Given the description of an element on the screen output the (x, y) to click on. 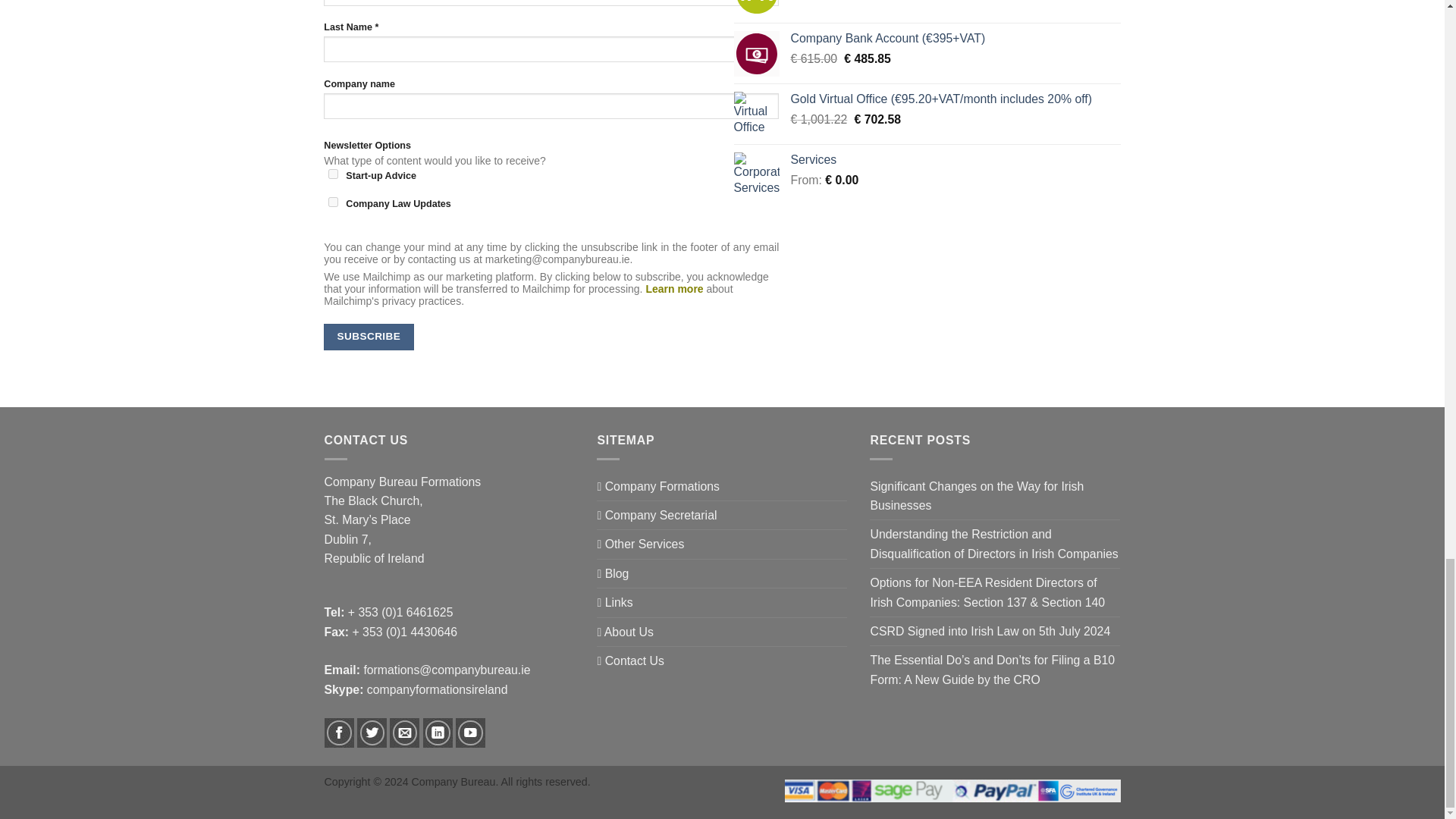
Y (333, 173)
Subscribe (368, 336)
Y (333, 202)
